Given the description of an element on the screen output the (x, y) to click on. 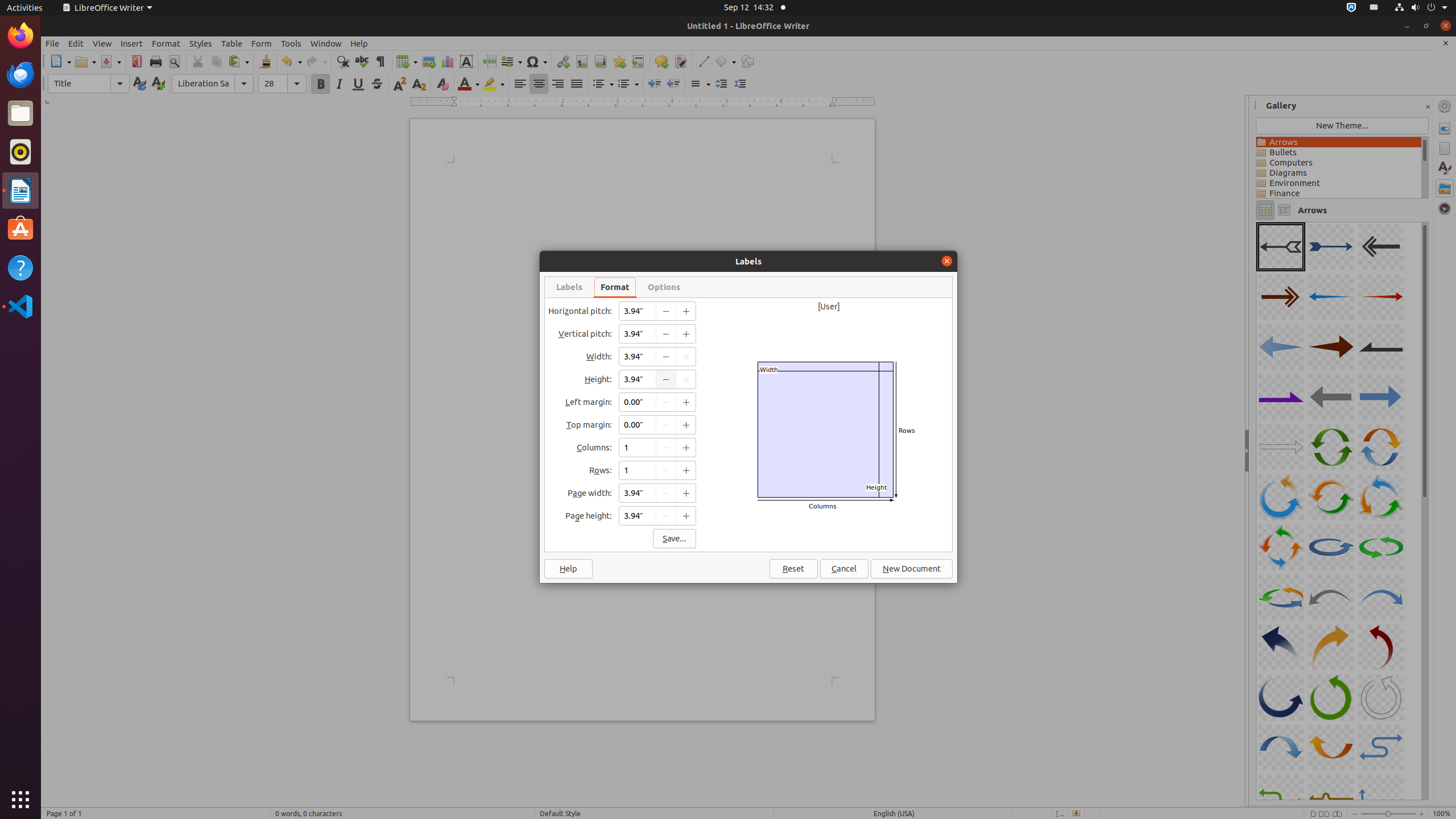
:1.21/StatusNotifierItem Element type: menu (1373, 7)
Help Element type: push-button (20, 267)
Show Applications Element type: toggle-button (20, 799)
